Given the description of an element on the screen output the (x, y) to click on. 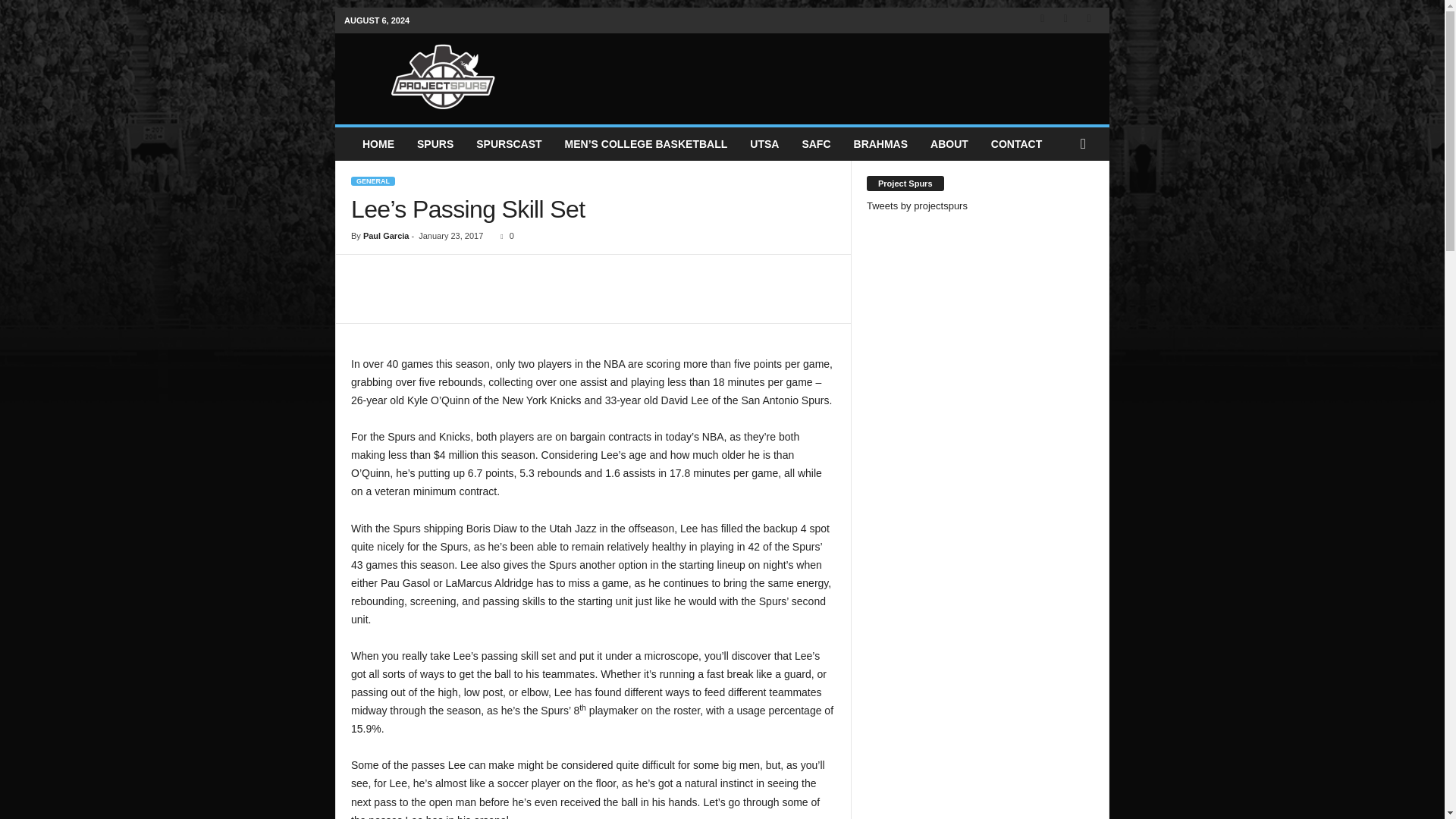
SPURS (435, 143)
SAFC (815, 143)
GENERAL (372, 180)
Project Spurs (442, 74)
HOME (378, 143)
CONTACT (1015, 143)
0 (504, 235)
Project Spurs (442, 74)
SPURSCAST (508, 143)
UTSA (764, 143)
BRAHMAS (881, 143)
Paul Garcia (385, 235)
ABOUT (948, 143)
